Given the description of an element on the screen output the (x, y) to click on. 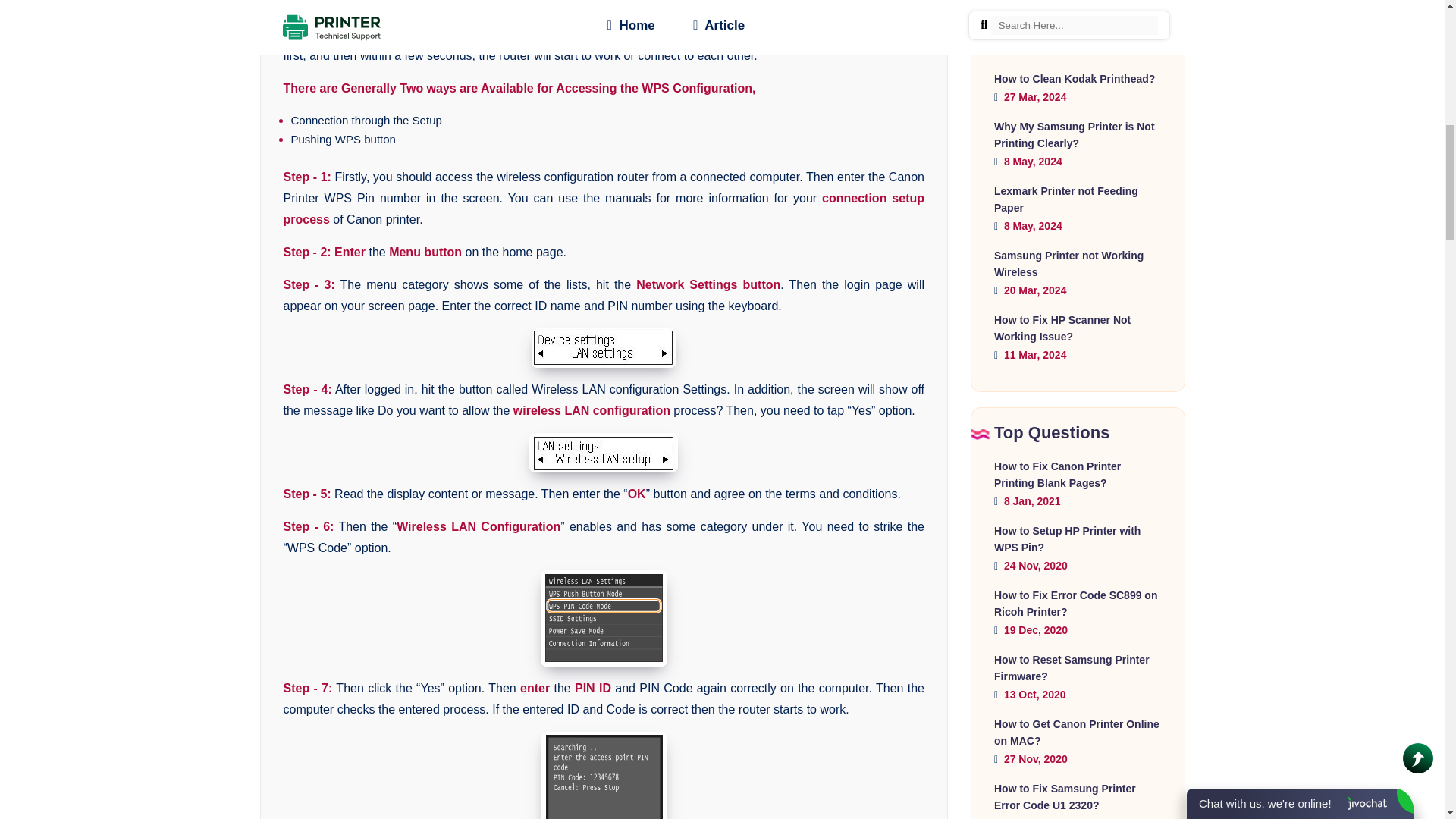
How to Fix Samsung Printer Error Code U1 2320? (1064, 796)
How to Get Canon Printer Online on MAC? (1076, 732)
Why My Samsung Printer is Not Printing Clearly? (1074, 134)
How to Clean Kodak Printhead? (1074, 78)
How to Fix Canon Printer Printing Blank Pages? (1057, 474)
How to Reset Samsung Printer Firmware? (1072, 667)
How to Fix HP Scanner Not Working Issue? (1062, 328)
How to Setup HP Printer with WPS Pin? (1067, 538)
Brother Printer Only Printing in Black and White (1072, 22)
Lexmark Printer not Feeding Paper (1066, 199)
